Given the description of an element on the screen output the (x, y) to click on. 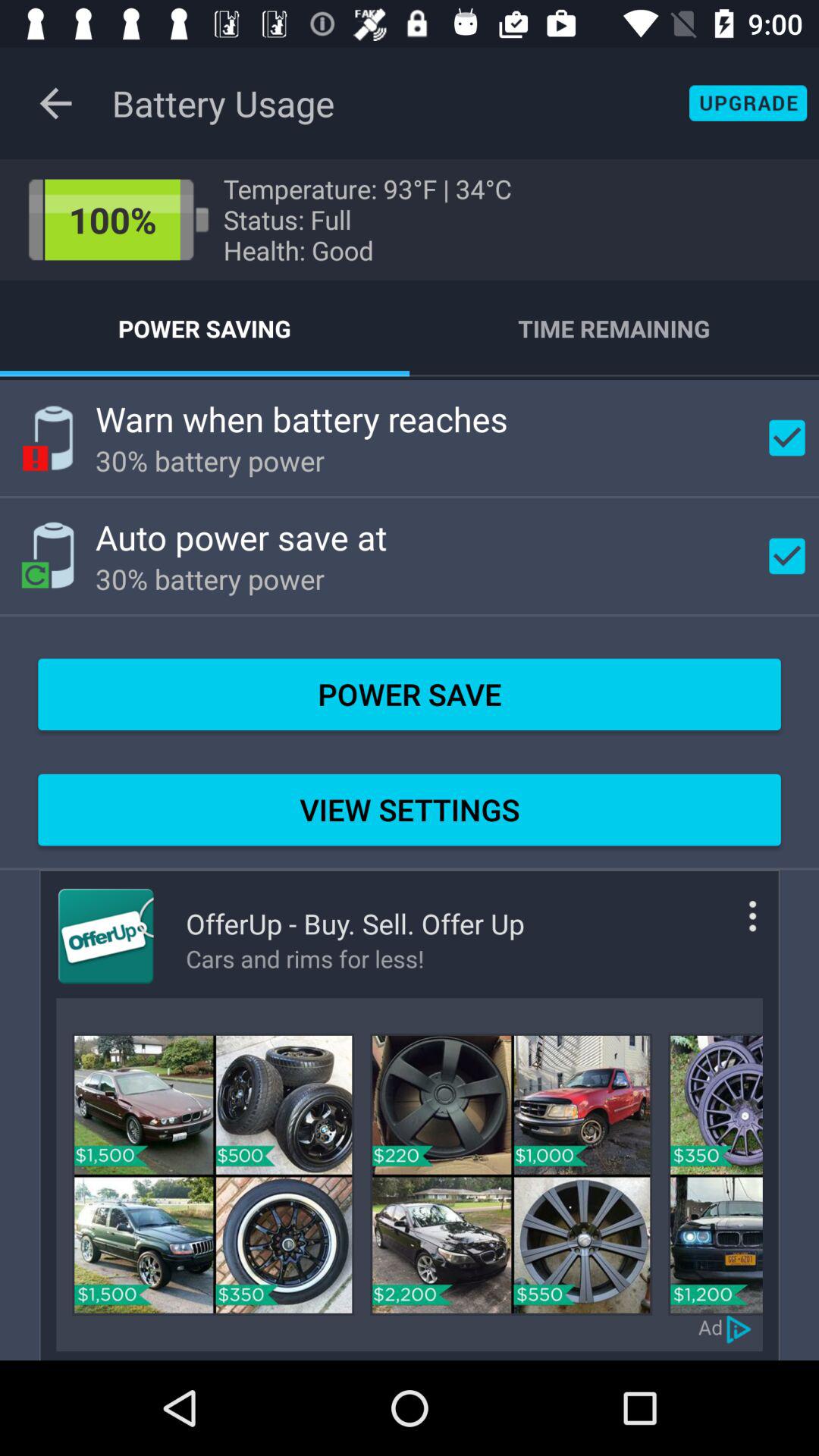
press the icon to the left of battery usage (55, 103)
